Given the description of an element on the screen output the (x, y) to click on. 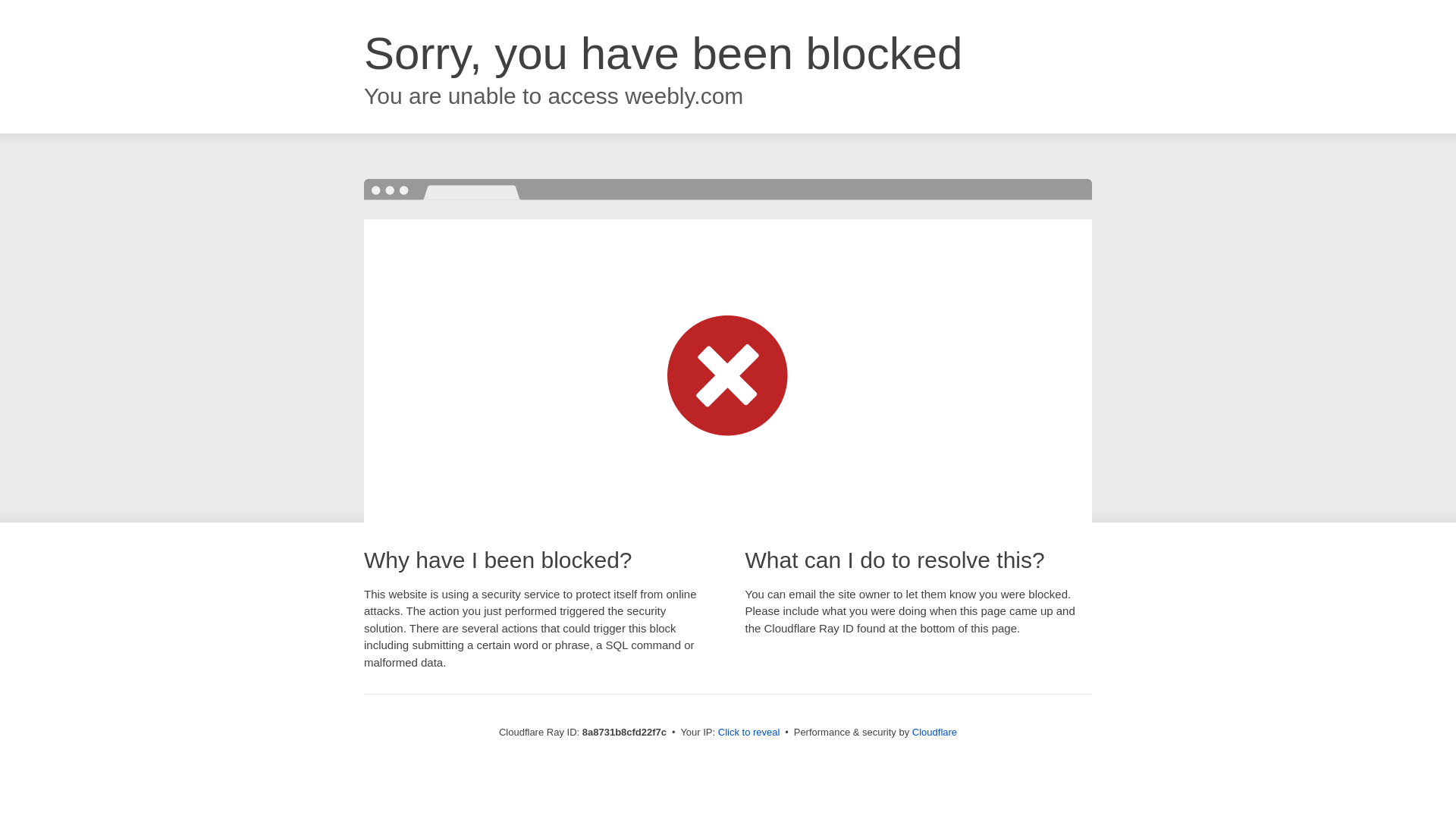
Cloudflare (934, 731)
Click to reveal (748, 732)
